Given the description of an element on the screen output the (x, y) to click on. 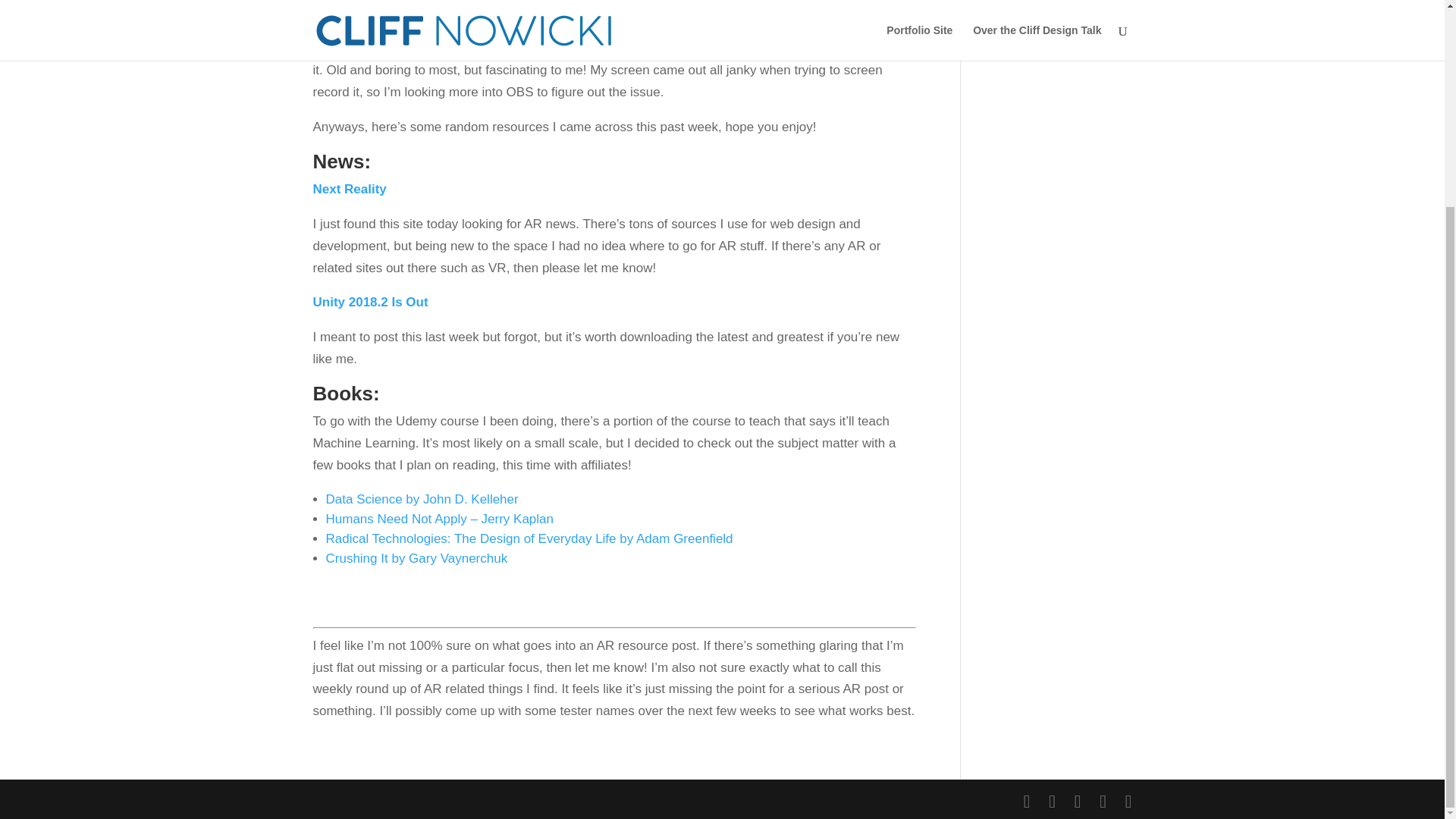
Crushing It by Gary Vaynerchuk (417, 558)
Unity 2018.2 Is Out (370, 301)
Data Science by John D. Kelleher (422, 499)
Next Reality (349, 188)
